Given the description of an element on the screen output the (x, y) to click on. 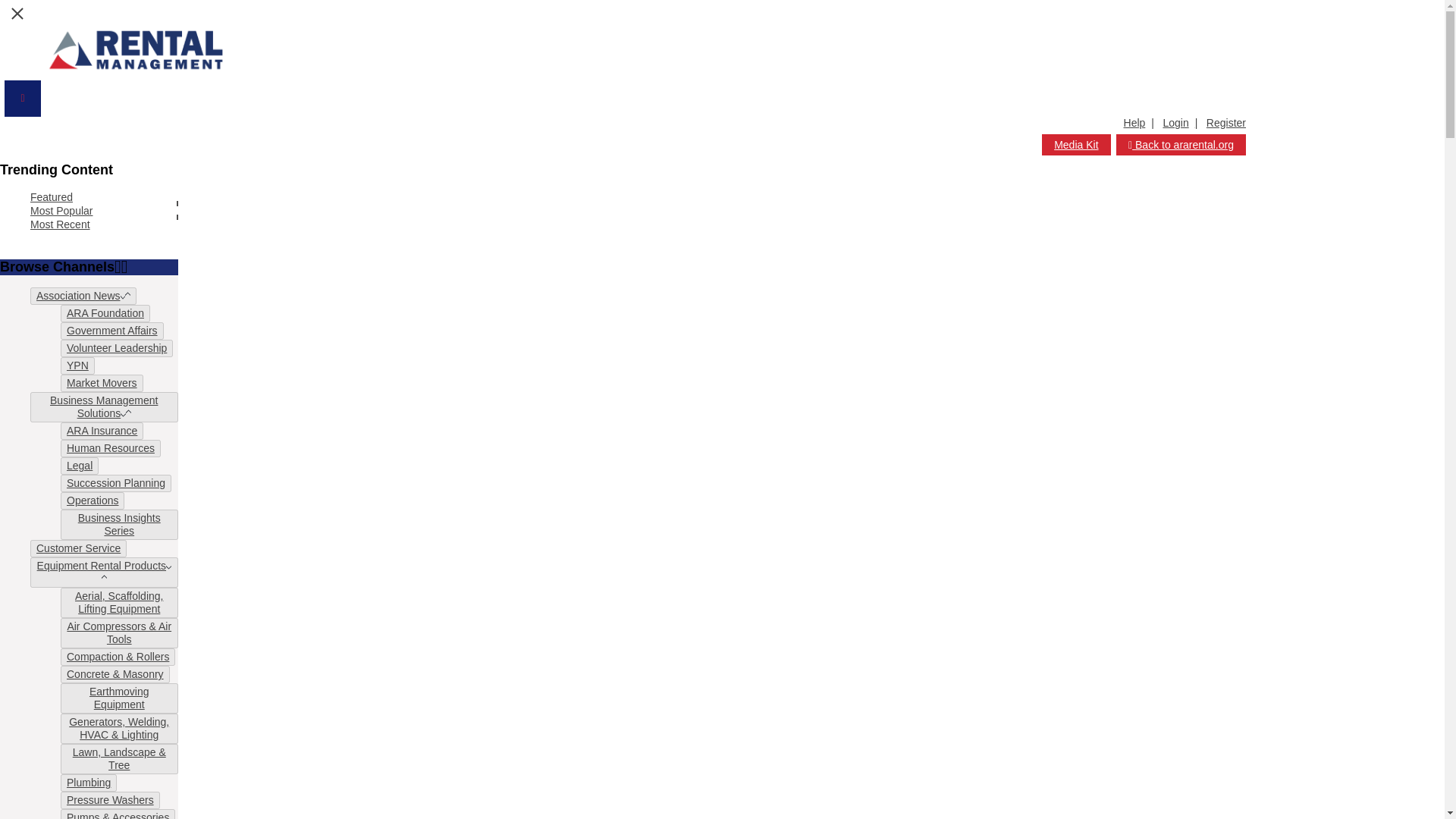
Government Affairs (111, 330)
Login (1182, 122)
Human Resources (110, 448)
ARA Foundation (105, 313)
Register (1226, 122)
Most Recent (60, 224)
YPN (77, 365)
Featured (51, 196)
Association News (83, 295)
YPN (77, 365)
Back to ararental.org (1181, 144)
ARA Insurance (101, 430)
Business Management Solutions (103, 406)
ARA Insurance (101, 430)
Business Management Solutions (103, 407)
